Given the description of an element on the screen output the (x, y) to click on. 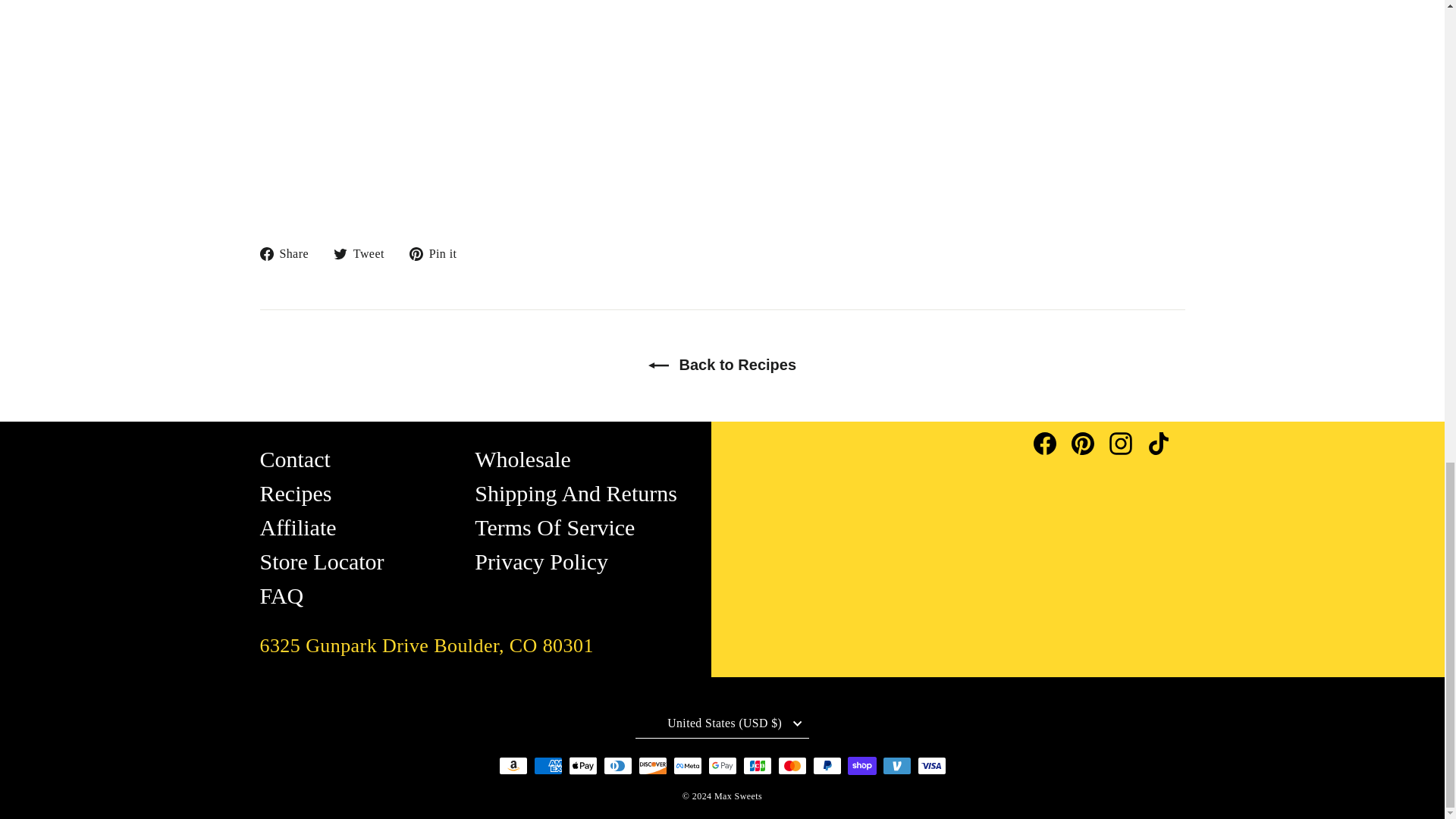
Max Sweets on TikTok (1166, 441)
Max Sweets on Instagram (1127, 441)
Max Sweets on Pinterest (1089, 441)
Tweet on Twitter (364, 253)
Max Sweets on Facebook (1051, 441)
Share on Facebook (288, 253)
icon-left-arrow (657, 365)
Pin on Pinterest (438, 253)
twitter (340, 254)
